Given the description of an element on the screen output the (x, y) to click on. 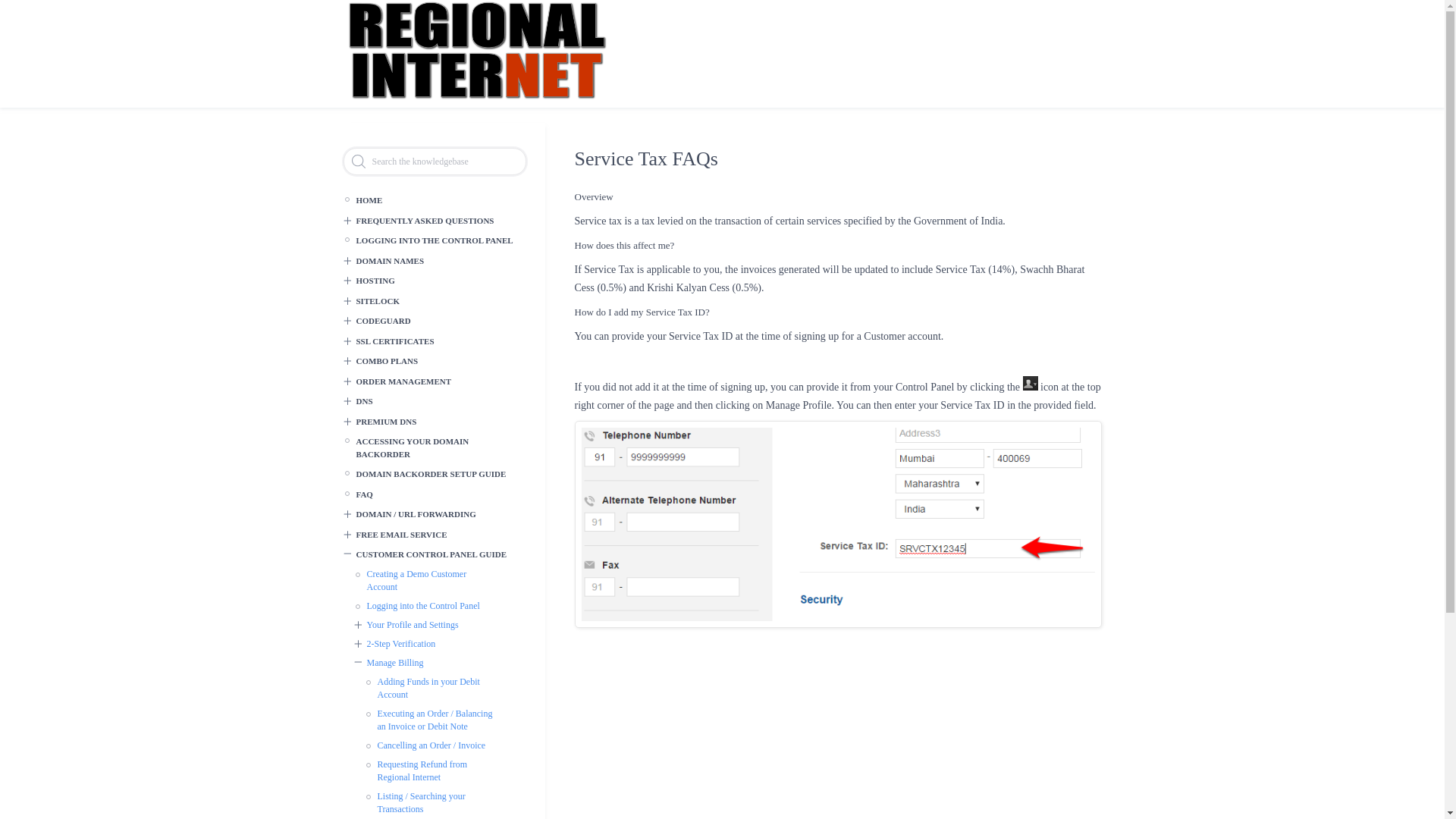
Search (13, 9)
DOMAIN NAMES (434, 260)
Skip to main content (722, 1)
LOGGING INTO THE CONTROL PANEL (428, 240)
FREQUENTLY ASKED QUESTIONS (434, 219)
Enter the terms you wish to search for. (433, 161)
HOME (428, 200)
